Given the description of an element on the screen output the (x, y) to click on. 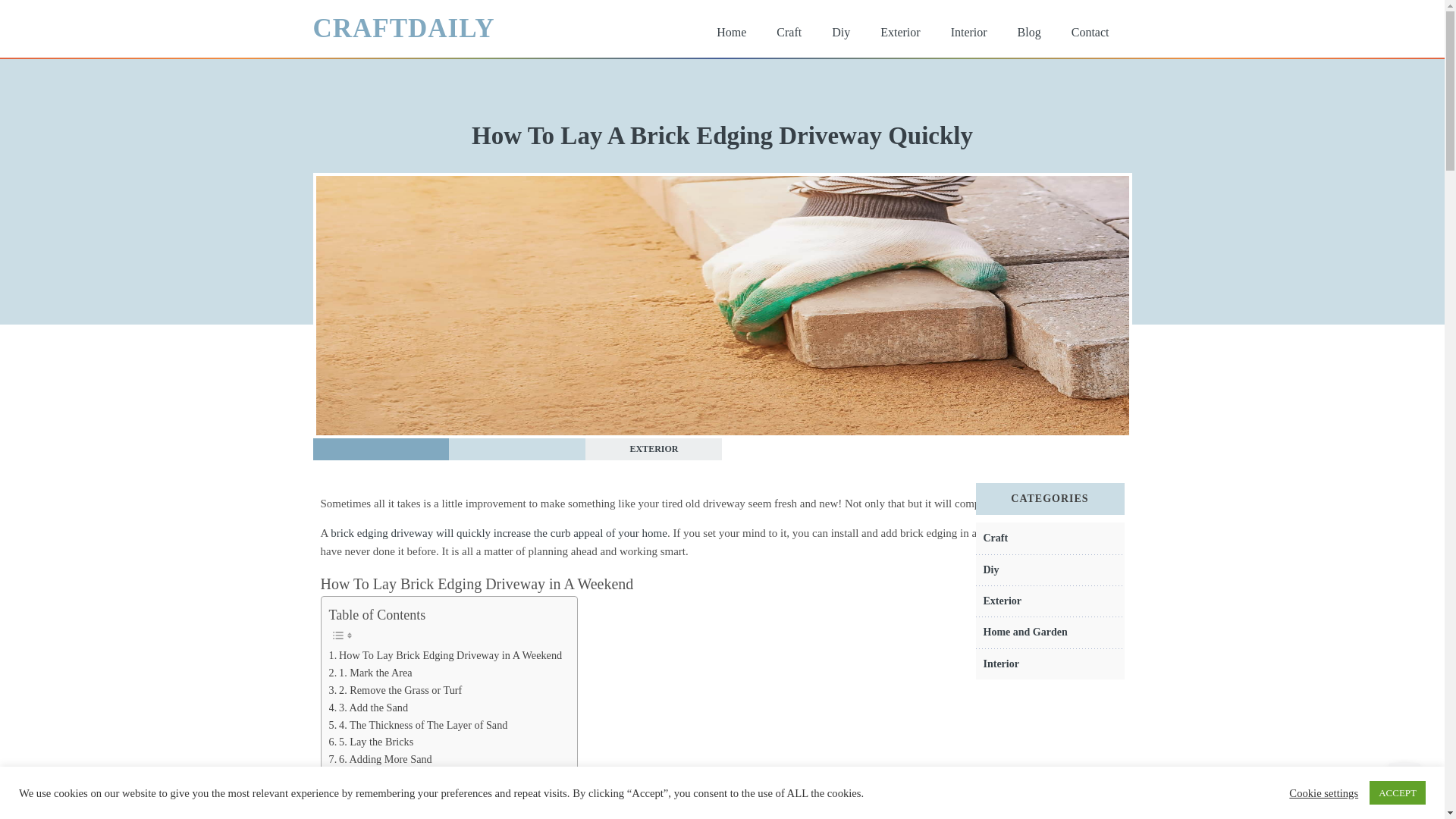
Interior (969, 32)
1. Mark the Area (370, 672)
3. Add the Sand (369, 707)
Interior (999, 663)
EXTERIOR (653, 448)
Exterior (899, 32)
1. Mark the Area (370, 672)
CRAFTDAILY (404, 28)
Diy (990, 569)
